Given the description of an element on the screen output the (x, y) to click on. 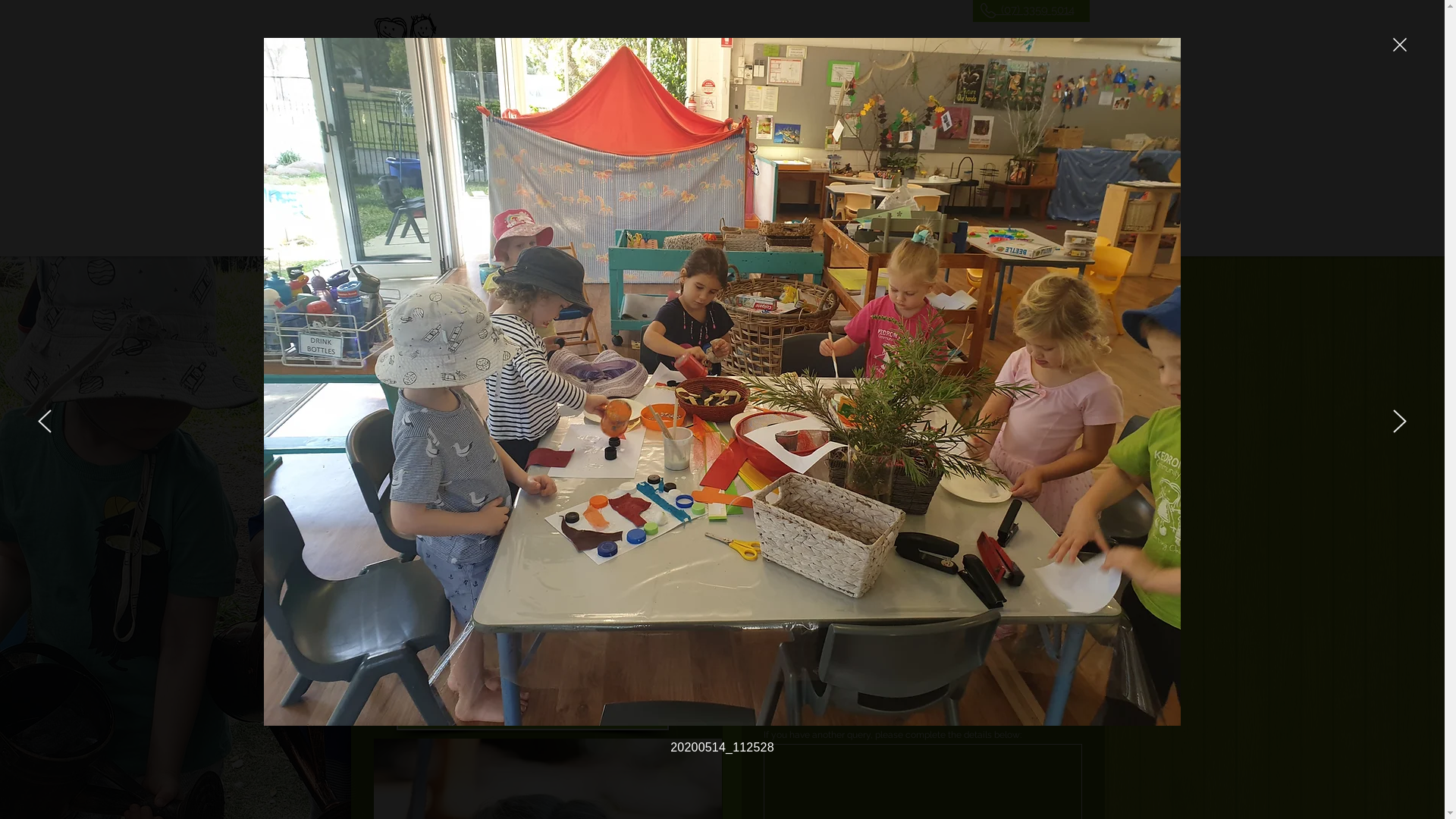
Calendar & Events info Element type: text (934, 126)
Our Staff Element type: text (707, 126)
Join our Waitlist Element type: text (505, 126)
Our History Element type: text (803, 126)
Play walkthrough video now Element type: text (531, 706)
Facebook page Element type: text (483, 608)
About Us Element type: text (616, 126)
Facebook Like Element type: hover (788, 69)
60th Year For Website.png Element type: hover (717, 199)
Home Element type: text (403, 126)
  (07) 3359 5014 Element type: text (1034, 9)
Instagram page Element type: text (619, 608)
